Given the description of an element on the screen output the (x, y) to click on. 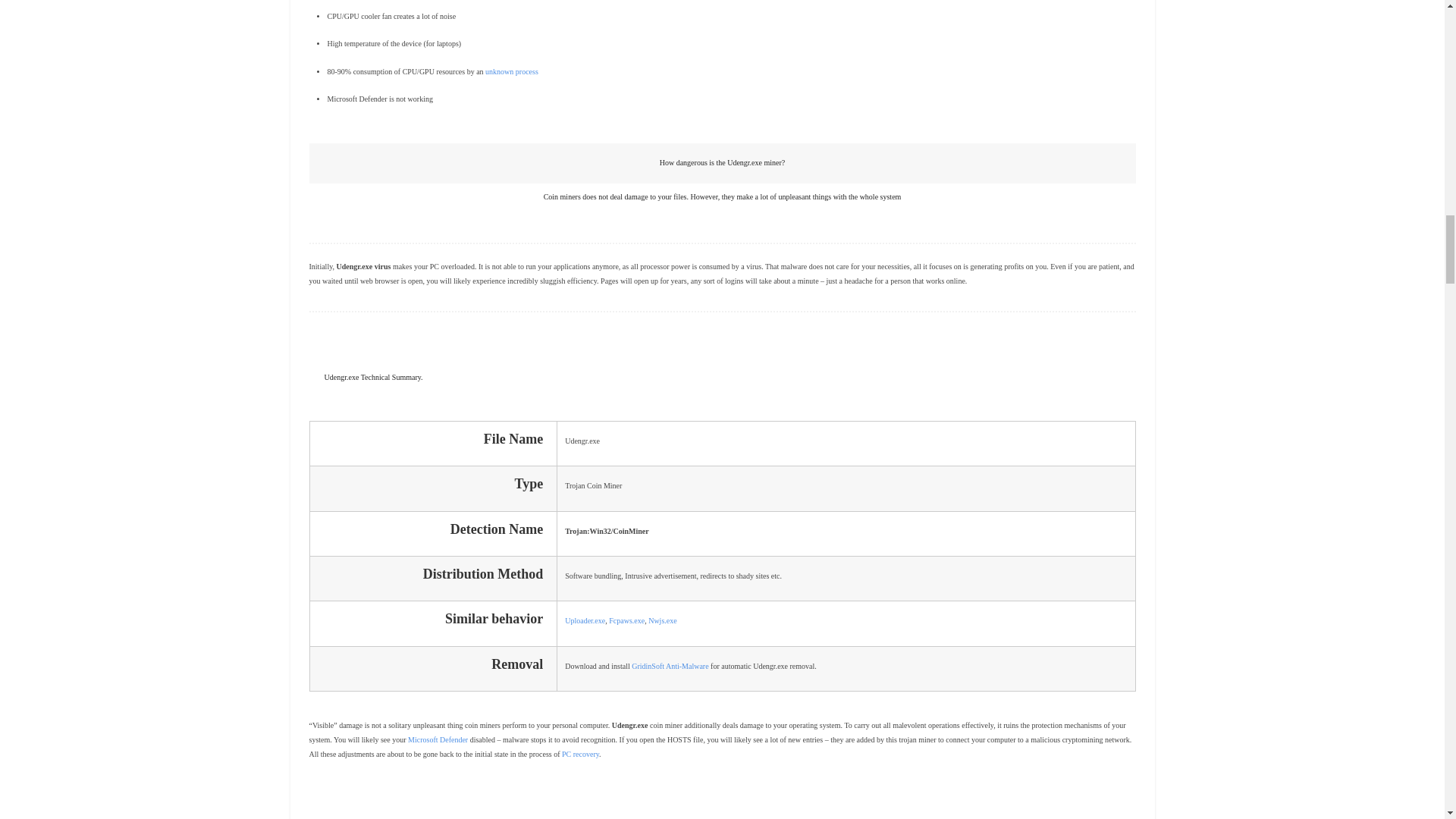
Uploader.exe (584, 620)
Fcpaws.exe (626, 620)
unknown process (511, 71)
